Given the description of an element on the screen output the (x, y) to click on. 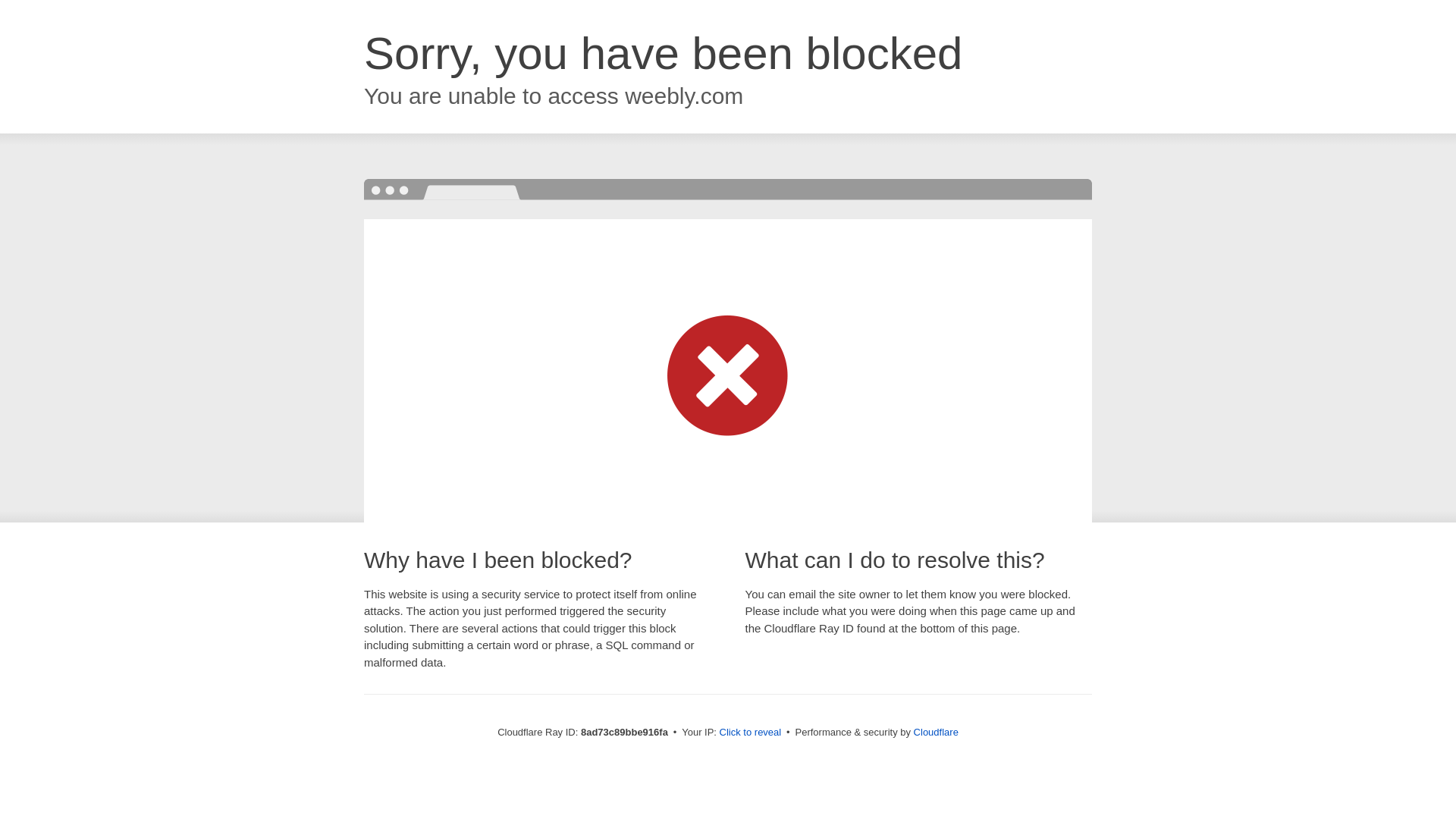
Cloudflare (936, 731)
Click to reveal (750, 732)
